Given the description of an element on the screen output the (x, y) to click on. 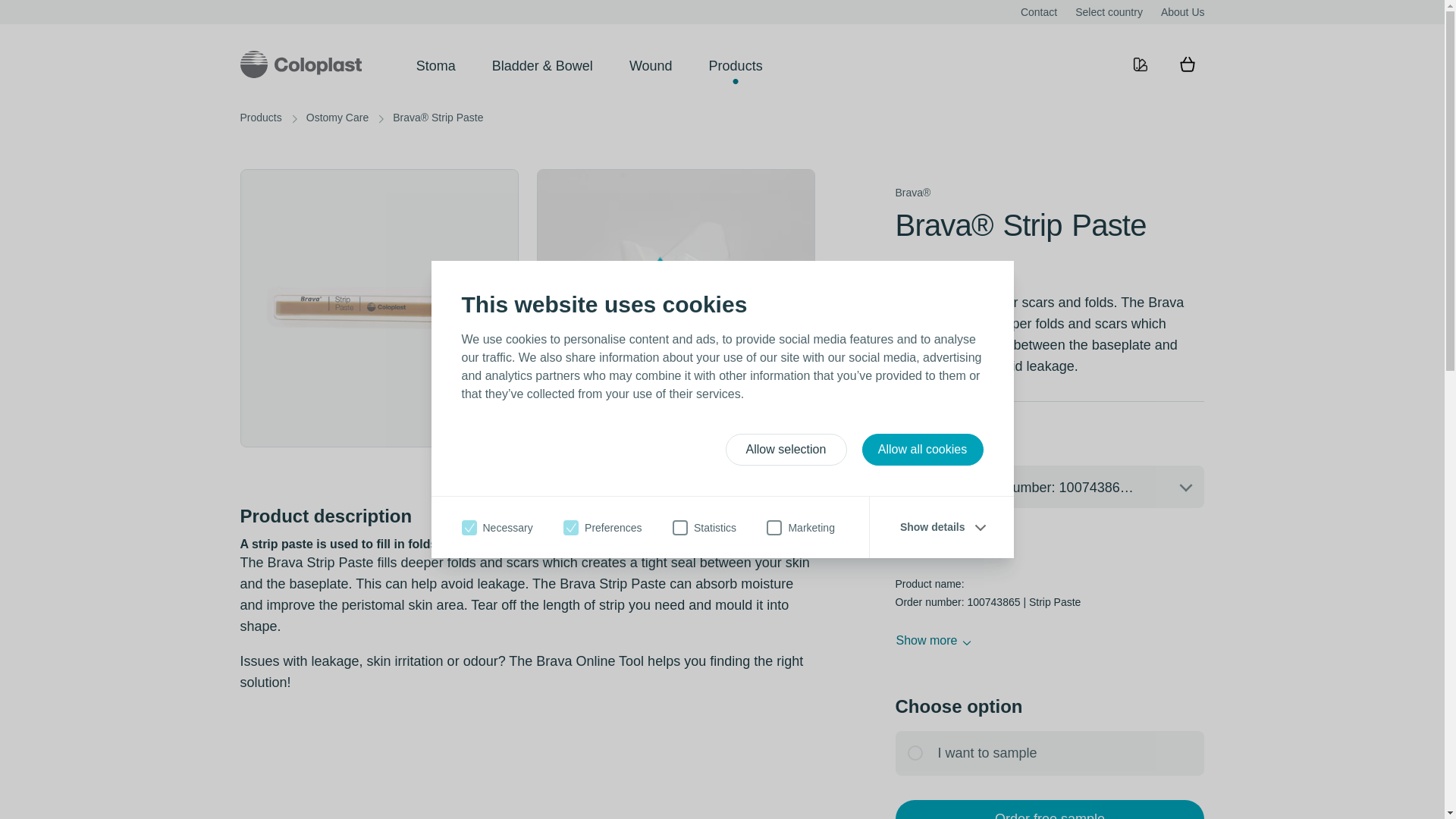
Allow selection (785, 450)
Show details (941, 526)
Allow all cookies (921, 450)
